Given the description of an element on the screen output the (x, y) to click on. 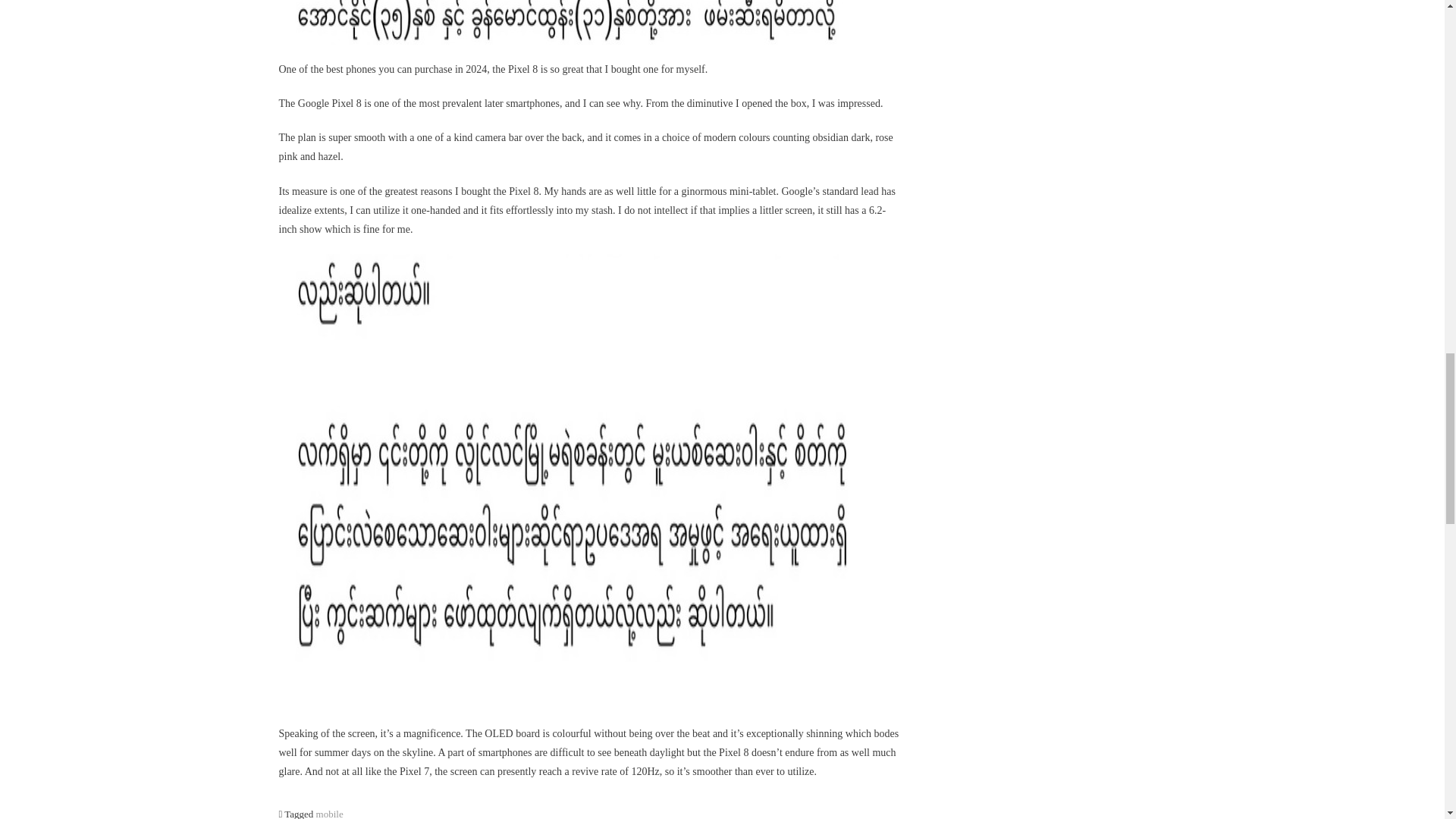
mobile (329, 813)
